Given the description of an element on the screen output the (x, y) to click on. 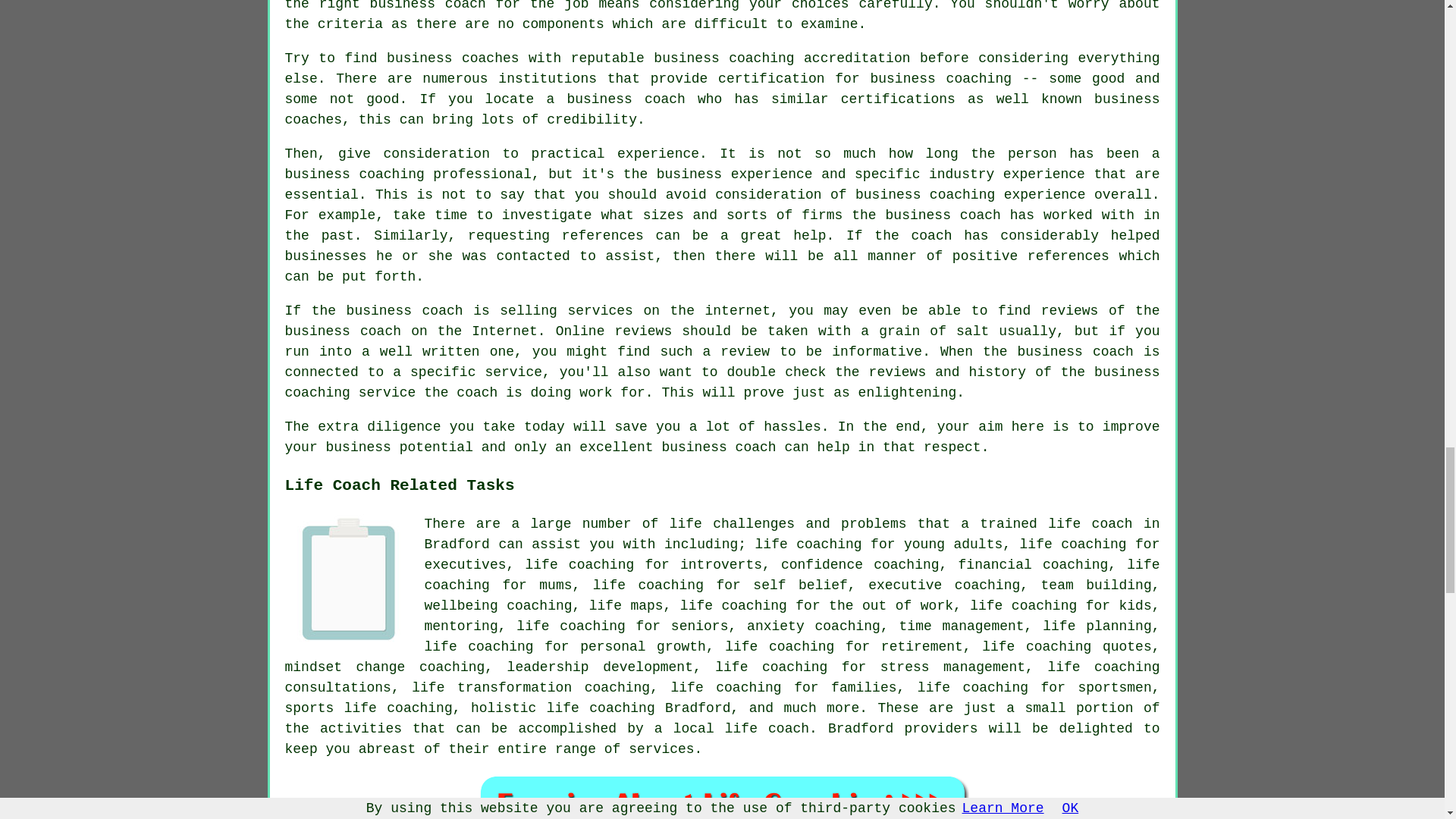
life coach (767, 727)
BRADFORD LIFE COACH ENQUIRIES (722, 796)
life planning (1096, 626)
life coaching (808, 544)
life coach (1090, 522)
confidence coaching (859, 563)
Life Coaching Tasks Bradford (349, 578)
